Given the description of an element on the screen output the (x, y) to click on. 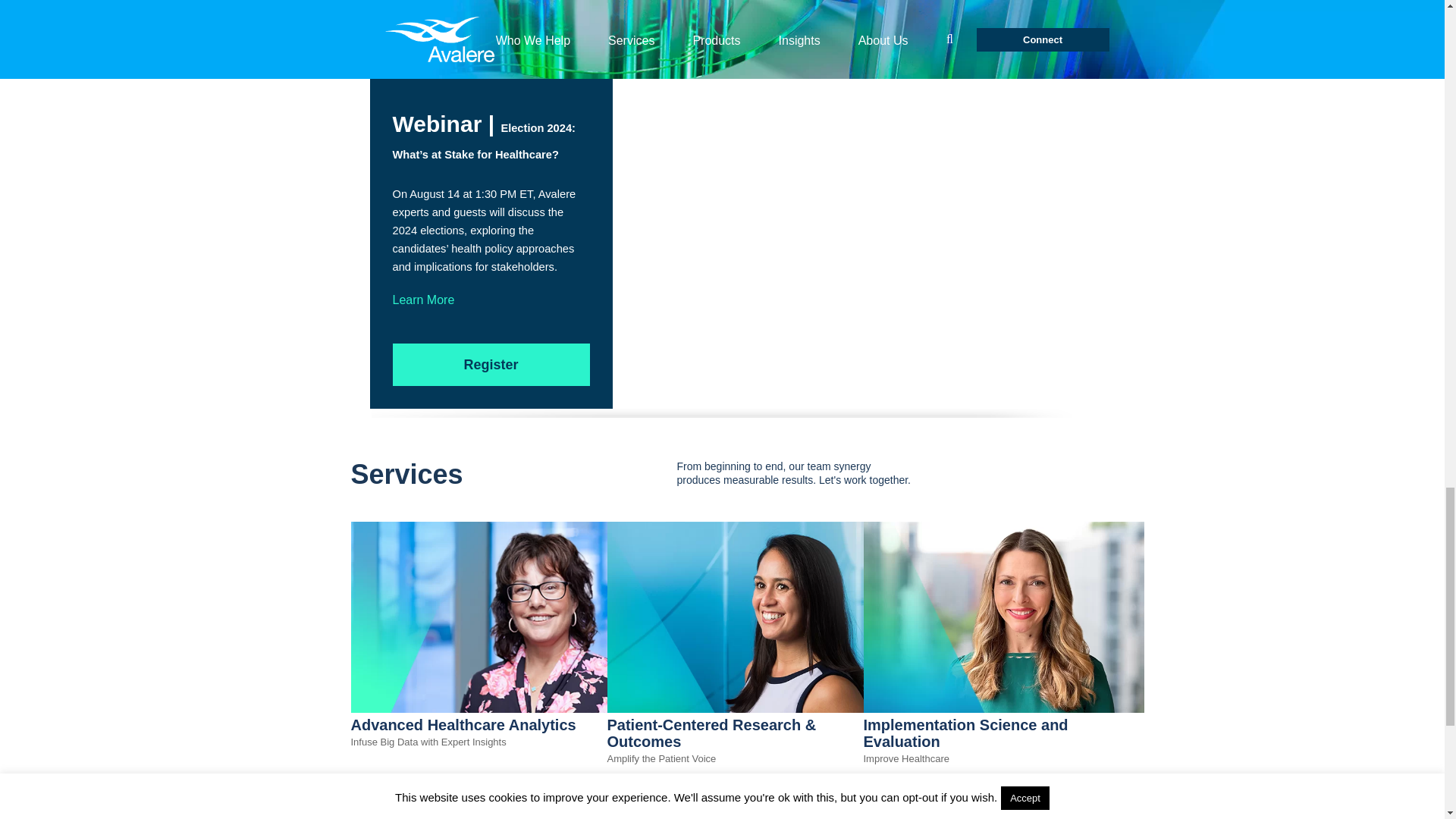
Advanced Healthcare Analytics (490, 708)
Implementation Science and Evaluation (1002, 708)
